Given the description of an element on the screen output the (x, y) to click on. 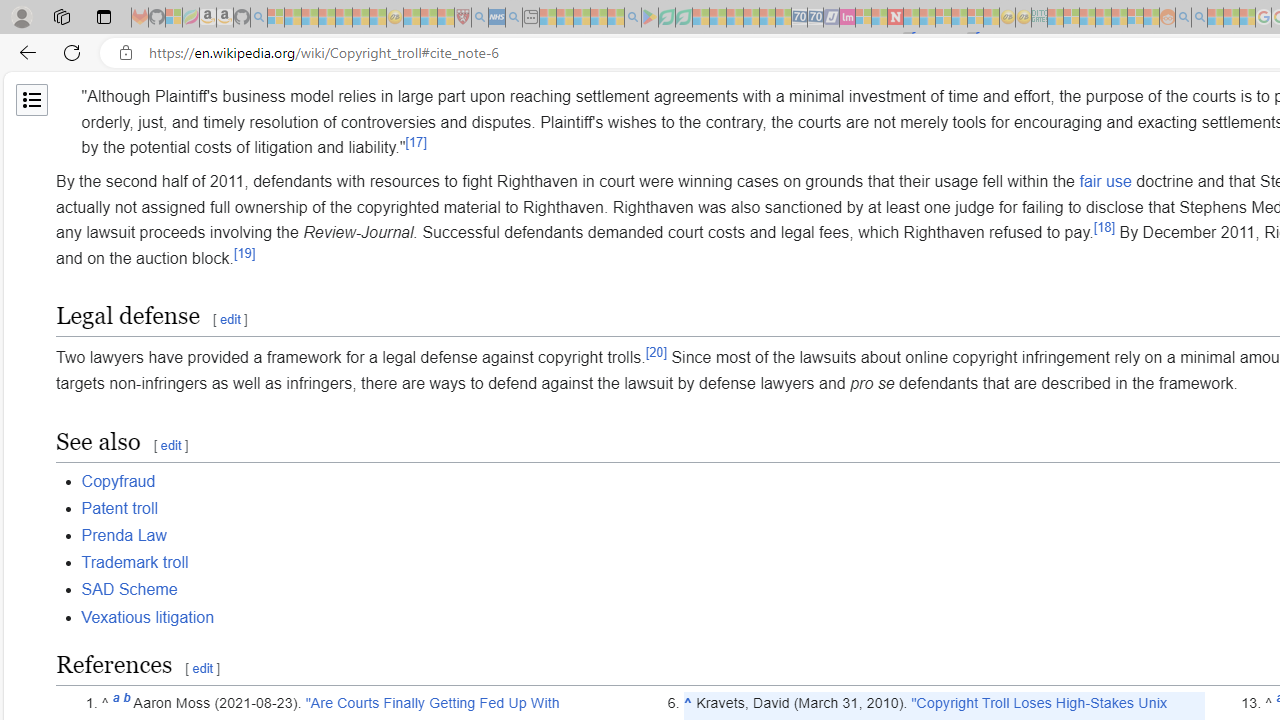
Back (24, 52)
DITOGAMES AG Imprint - Sleeping (1039, 17)
Robert H. Shmerling, MD - Harvard Health - Sleeping (462, 17)
Cheap Hotels - Save70.com - Sleeping (815, 17)
MSNBC - MSN - Sleeping (1055, 17)
[20] (655, 352)
Terms of Use Agreement - Sleeping (666, 17)
Trademark troll (134, 562)
Vexatious litigation (147, 616)
Jump up (687, 703)
